Given the description of an element on the screen output the (x, y) to click on. 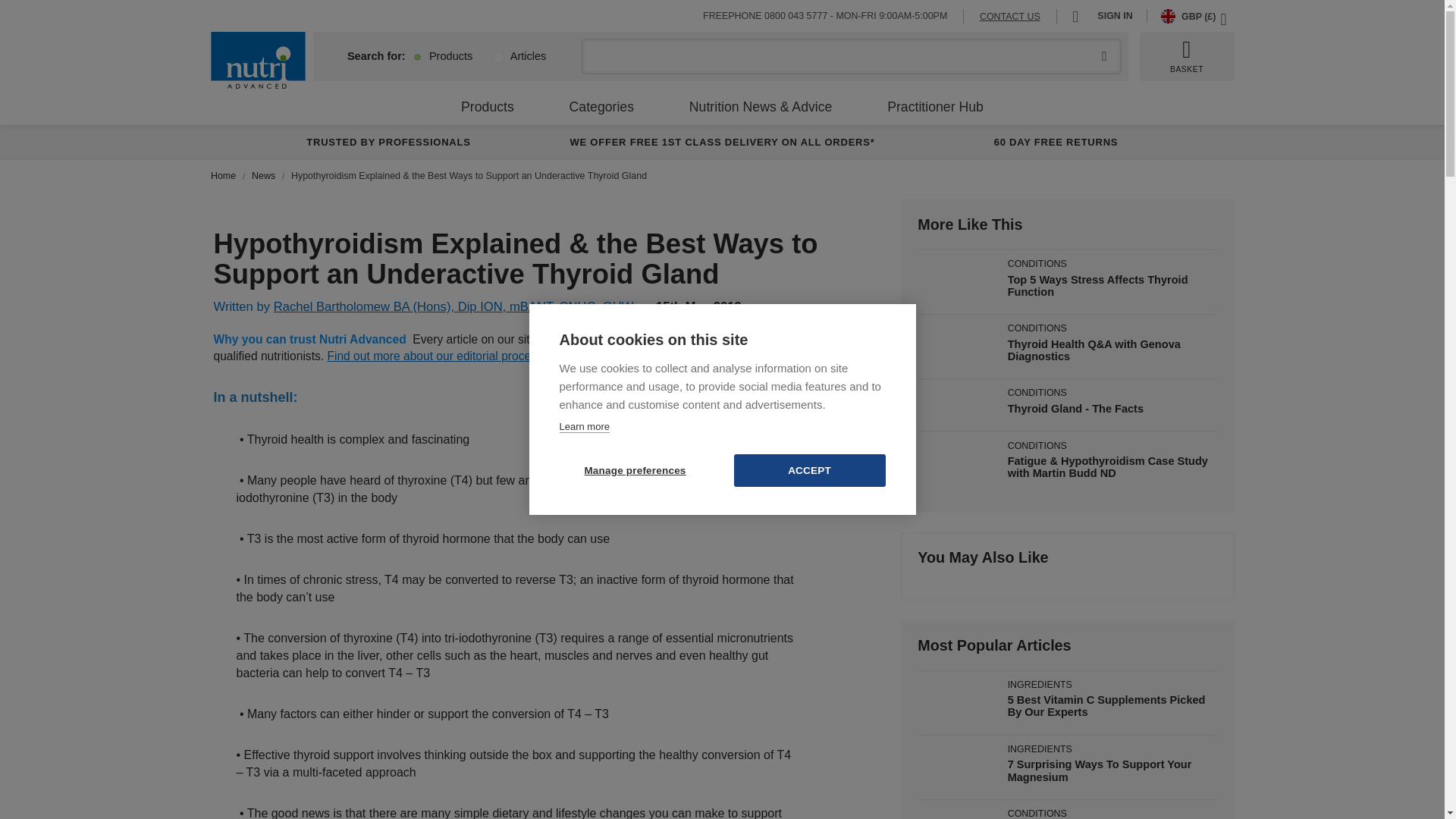
CONTACT US (1010, 16)
SIGN IN (1114, 15)
products (417, 57)
Contact Us (1010, 16)
MY ACCOUNT (1079, 15)
Go to Home Page (224, 175)
Call Us (795, 15)
Top 5 Ways Stress Affects Thyroid Function (1097, 285)
products (417, 57)
Thyroid Gland - The Facts (1074, 408)
